Given the description of an element on the screen output the (x, y) to click on. 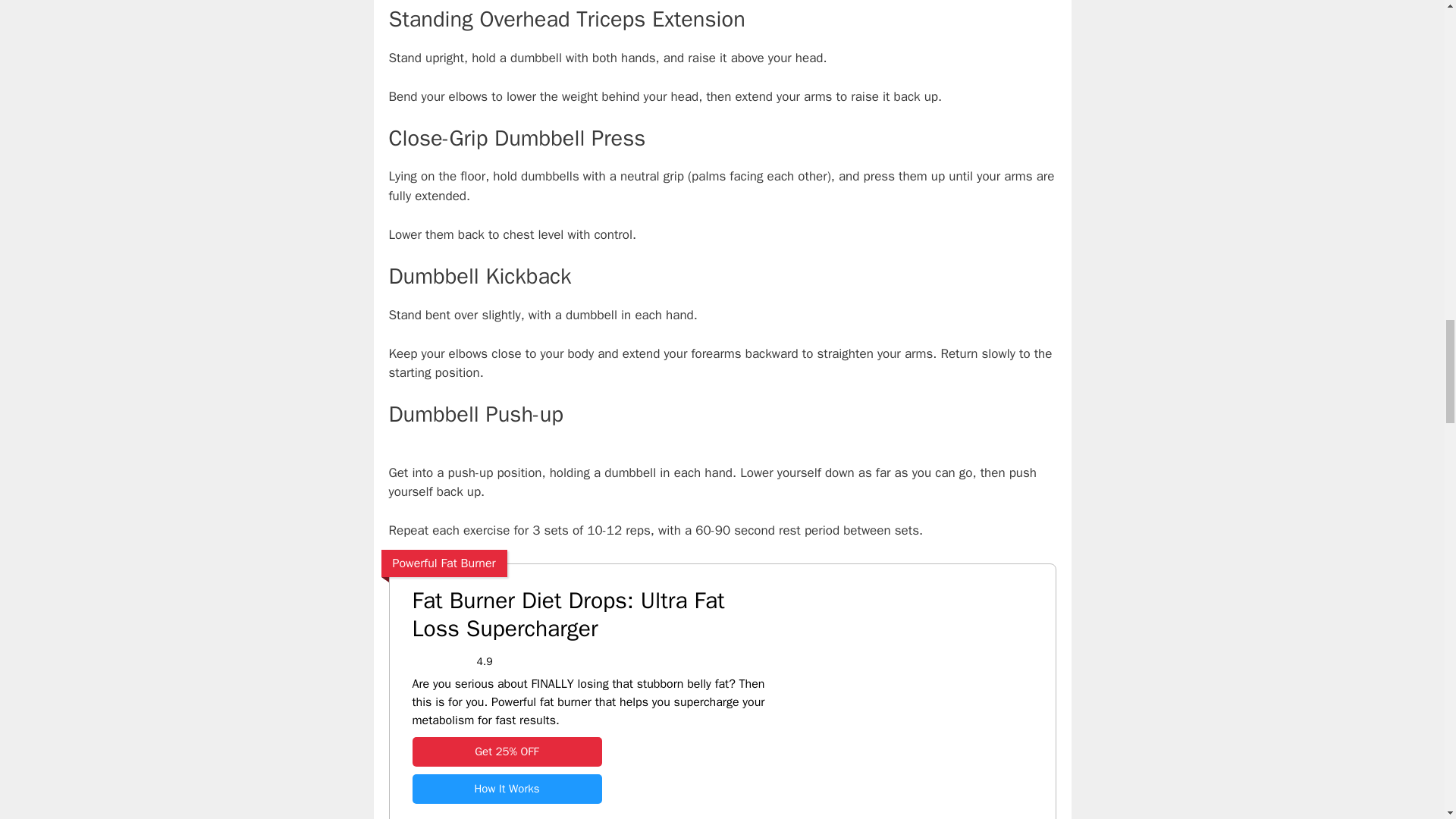
Fat Burner Diet Drops: Ultra Fat Loss Supercharger (589, 615)
Fat Burner Diet Drops: Ultra Fat Loss Supercharger (507, 751)
Fat Burner Diet Drops: Ultra Fat Loss Supercharger (507, 788)
